Given the description of an element on the screen output the (x, y) to click on. 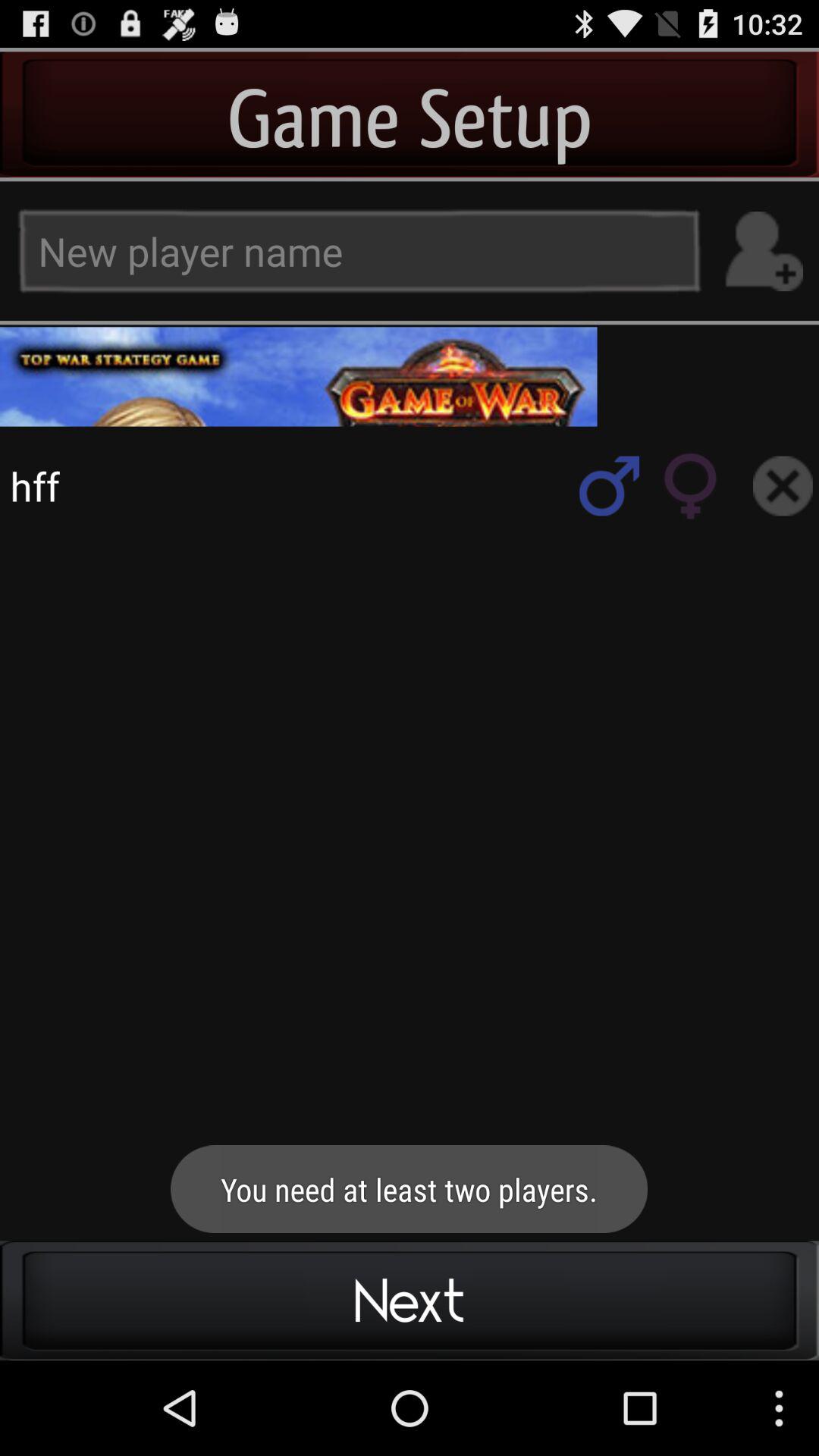
enter the name you want (763, 251)
